Given the description of an element on the screen output the (x, y) to click on. 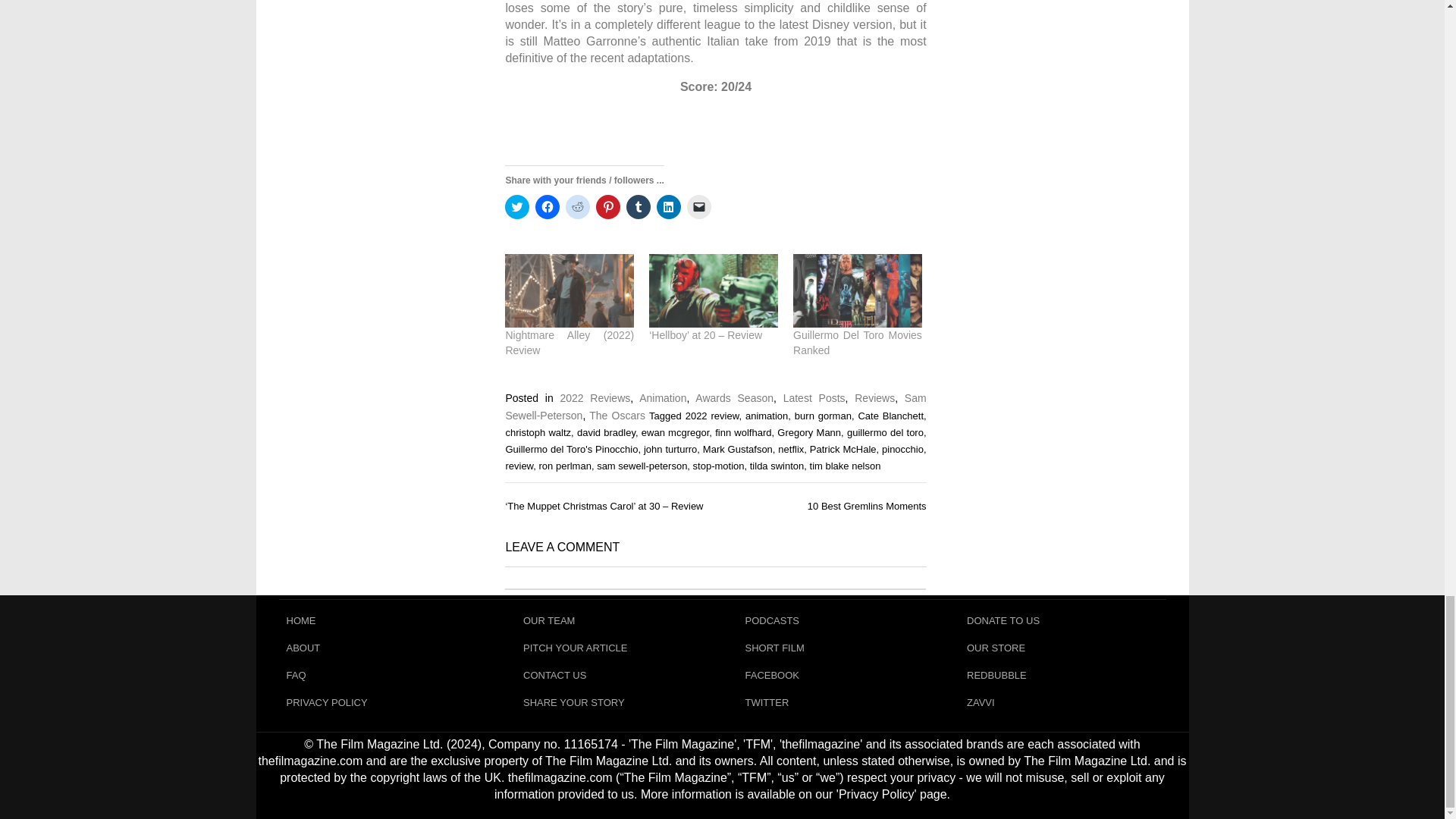
Click to share on Reddit (577, 206)
Guillermo Del Toro Movies Ranked (857, 342)
Click to share on Tumblr (638, 206)
Click to share on Pinterest (607, 206)
Click to share on Facebook (547, 206)
Click to share on Twitter (517, 206)
Click to email a link to a friend (699, 206)
Click to share on LinkedIn (668, 206)
Guillermo Del Toro Movies Ranked (857, 290)
